Given the description of an element on the screen output the (x, y) to click on. 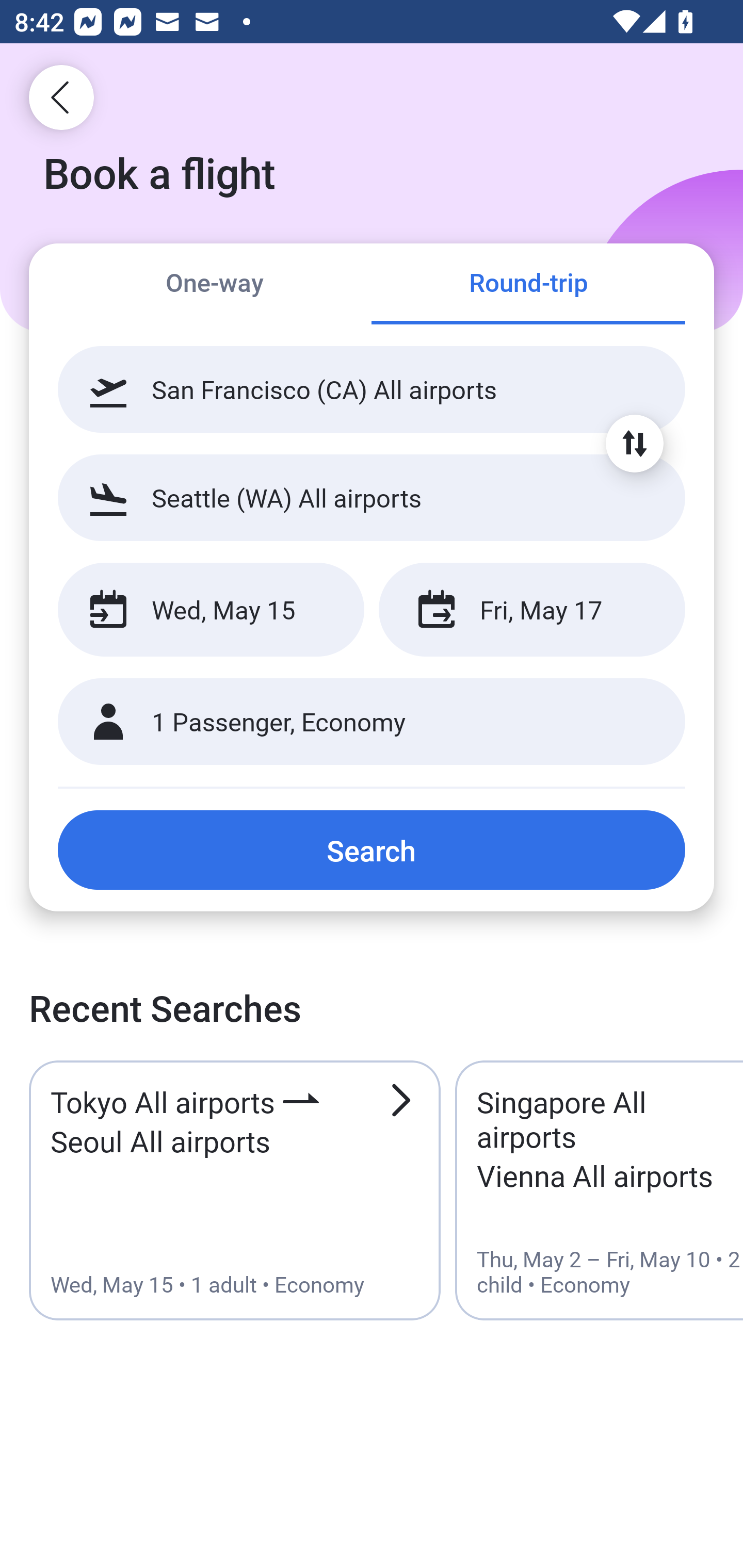
One-way (214, 284)
San Francisco (CA) All airports (371, 389)
Seattle (WA) All airports (371, 497)
Wed, May 15 (210, 609)
Fri, May 17 (531, 609)
1 Passenger, Economy (371, 721)
Search (371, 849)
